Given the description of an element on the screen output the (x, y) to click on. 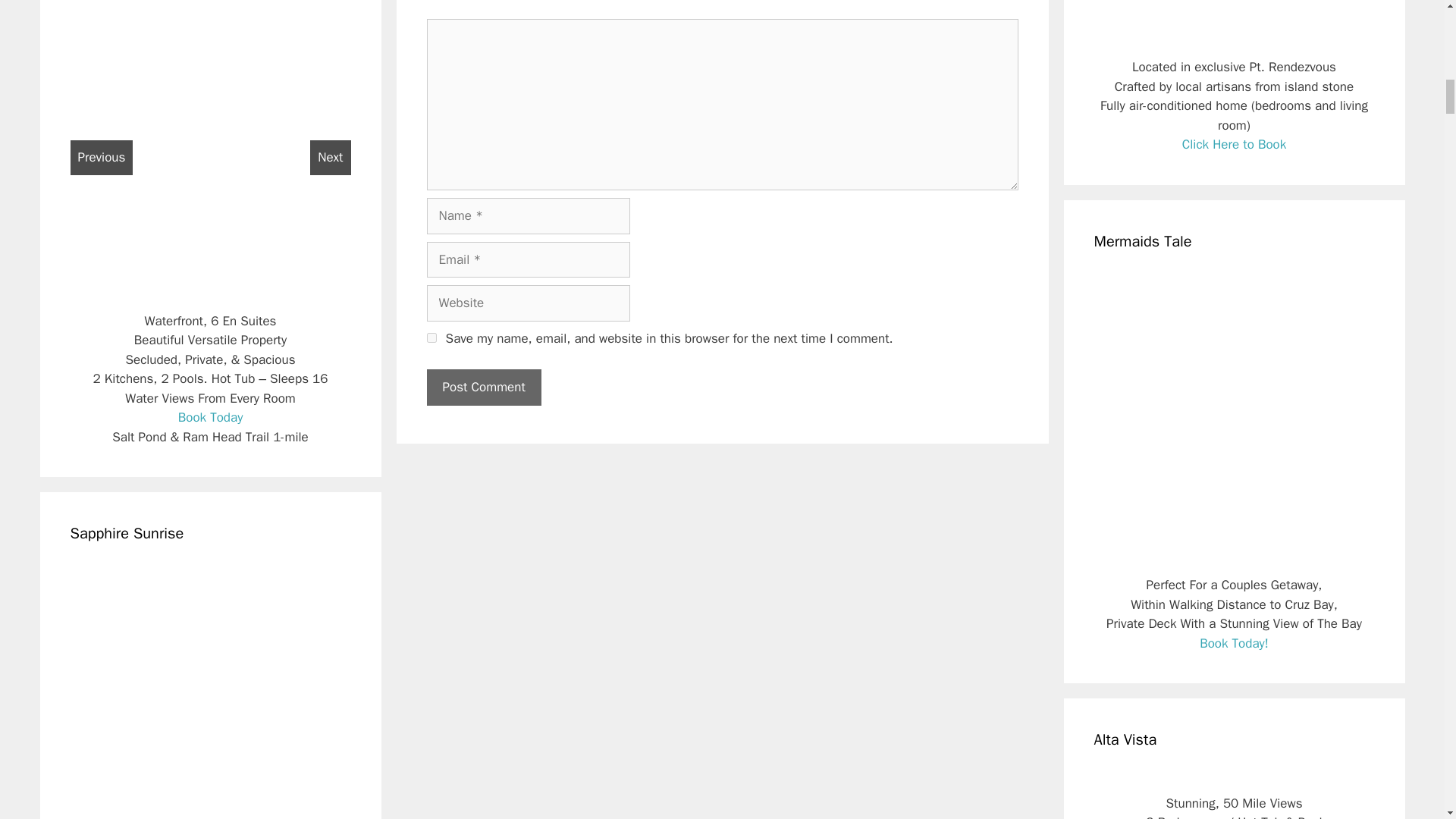
Post Comment (483, 387)
yes (430, 337)
Post Comment (483, 387)
